Given the description of an element on the screen output the (x, y) to click on. 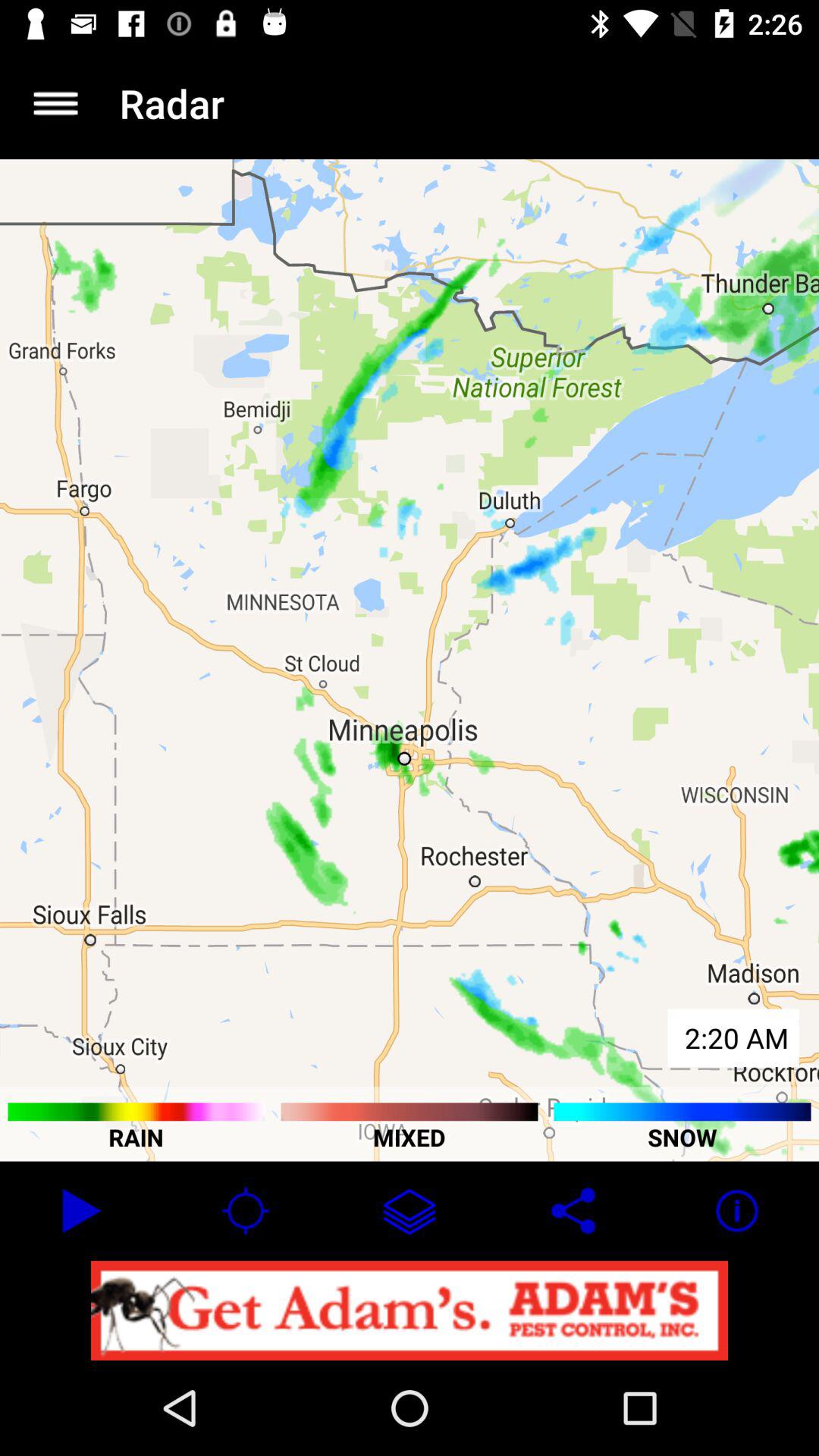
turn off the icon next to radar (55, 103)
